Given the description of an element on the screen output the (x, y) to click on. 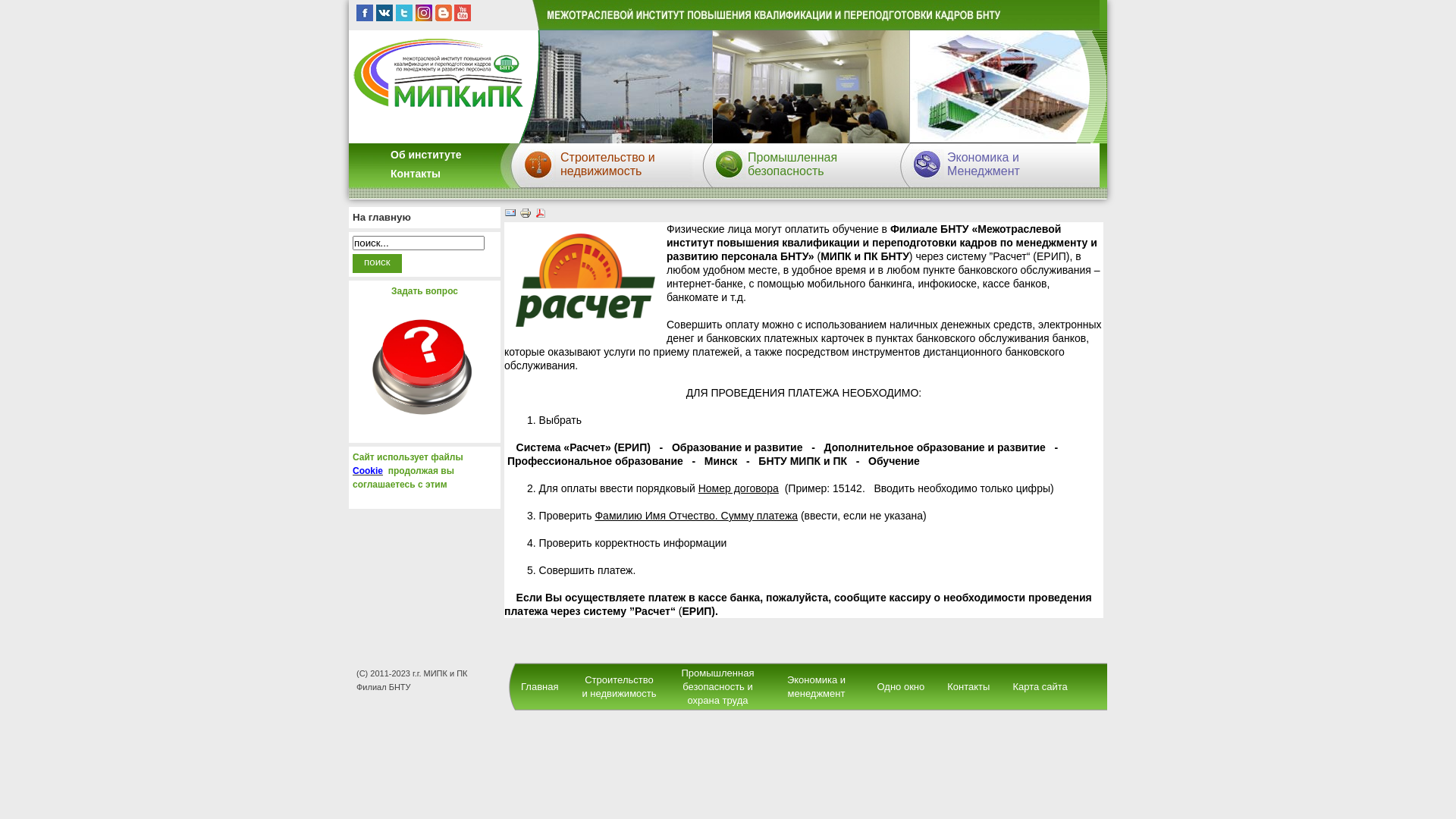
E-mail Element type: hover (510, 215)
PDF Element type: hover (540, 215)
Cookie Element type: text (367, 470)
